Given the description of an element on the screen output the (x, y) to click on. 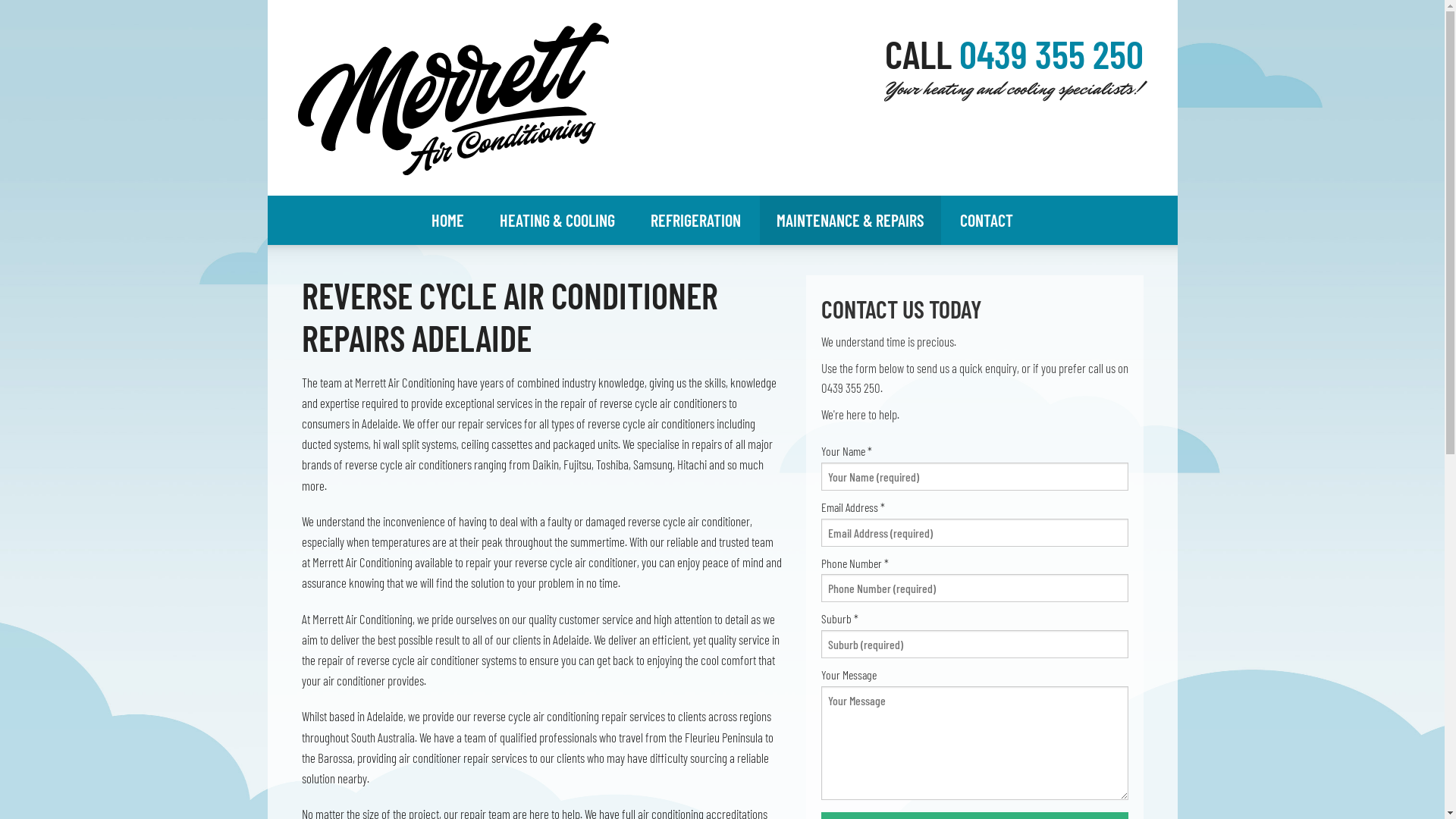
MAINTENANCE & REPAIRS Element type: text (850, 219)
CALL 0439 355 250 Element type: text (1013, 63)
CONTACT Element type: text (986, 219)
REFRIGERATION Element type: text (695, 219)
HEATING & COOLING Element type: text (557, 219)
HOME Element type: text (447, 219)
